Given the description of an element on the screen output the (x, y) to click on. 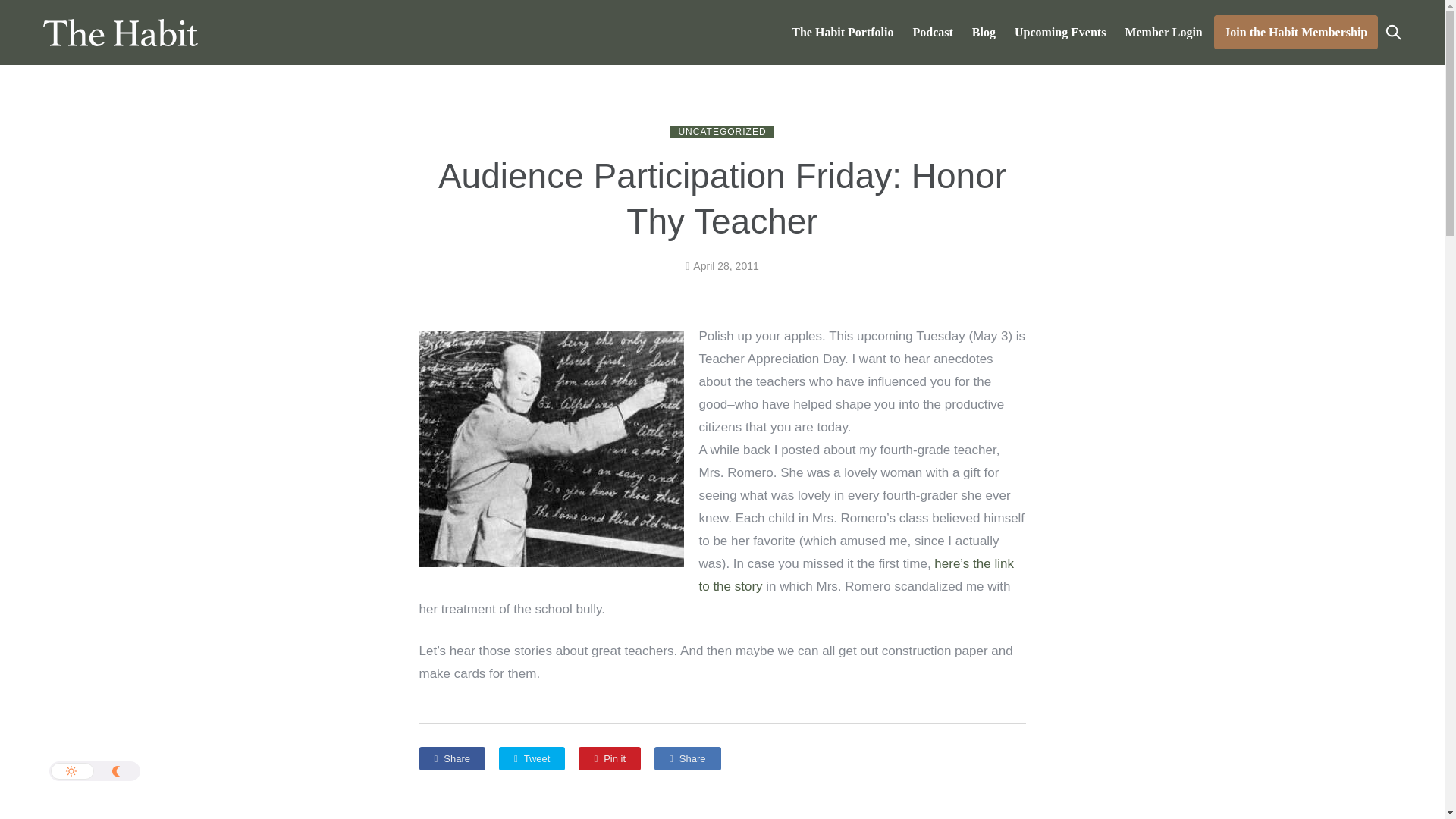
Podcast (932, 31)
teacher2 (550, 448)
The Habit Portfolio (842, 31)
Upcoming Events (1060, 31)
Join the Habit Membership (1295, 31)
Member Login (1162, 31)
Blog (983, 31)
